Given the description of an element on the screen output the (x, y) to click on. 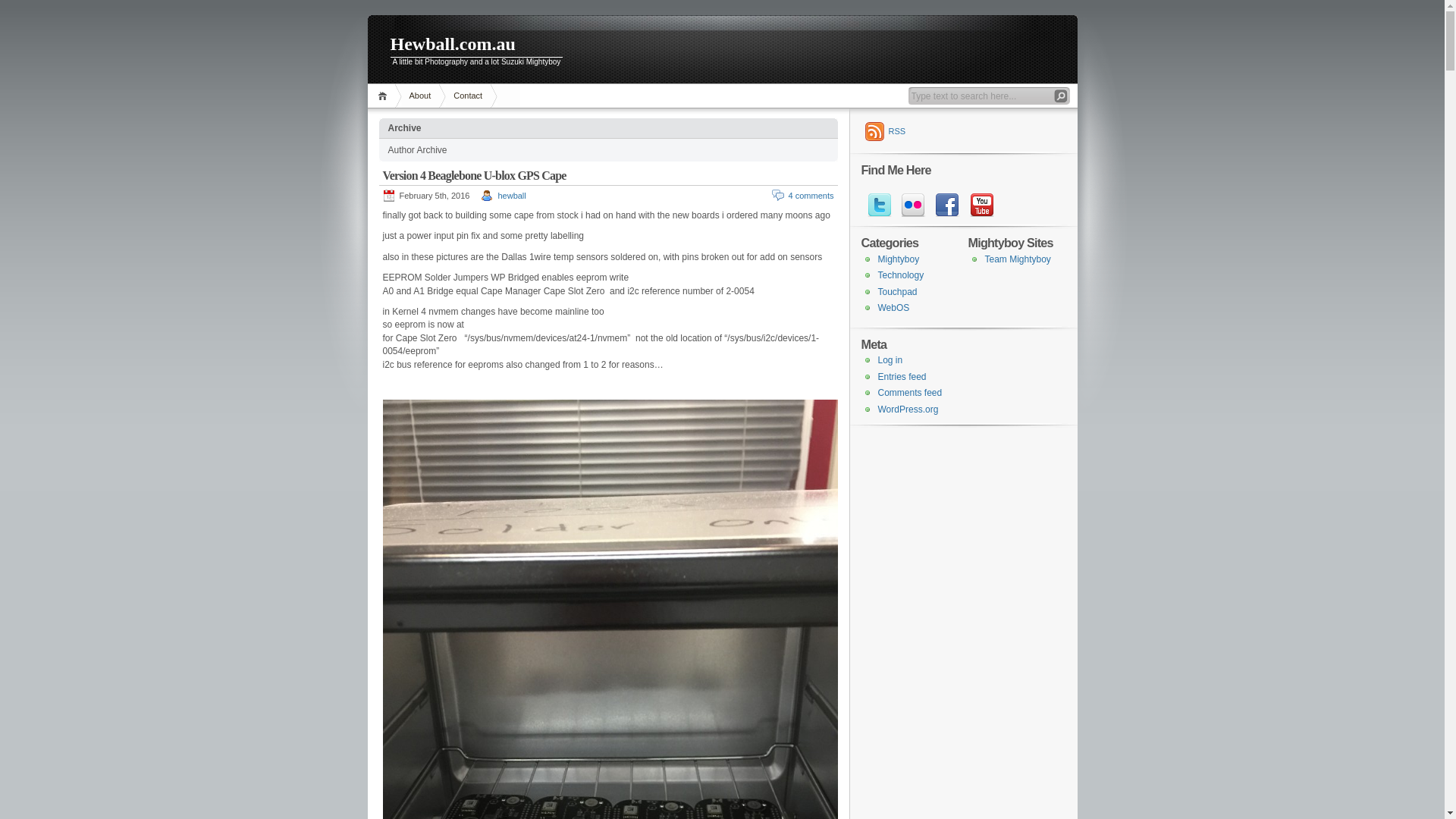
Comments feed Element type: text (910, 392)
Version 4 Beaglebone U-blox GPS Cape Element type: text (473, 175)
Home Element type: text (384, 95)
4 comments Element type: text (811, 195)
Technology Element type: text (901, 274)
youtube Element type: hover (980, 204)
facebook Element type: hover (946, 204)
Entries feed Element type: text (902, 376)
WebOS Element type: text (894, 307)
Touchpad Element type: text (897, 291)
RSS Element type: text (885, 131)
flickr Element type: hover (911, 204)
Log in Element type: text (890, 359)
Contact Element type: text (467, 95)
hewball Element type: text (511, 195)
Mightyboy Element type: text (898, 259)
Team Mightyboy Element type: text (1017, 259)
WordPress.org Element type: text (908, 409)
twitter Element type: hover (878, 204)
Hewball.com.au Element type: text (721, 45)
About Element type: text (420, 95)
